Given the description of an element on the screen output the (x, y) to click on. 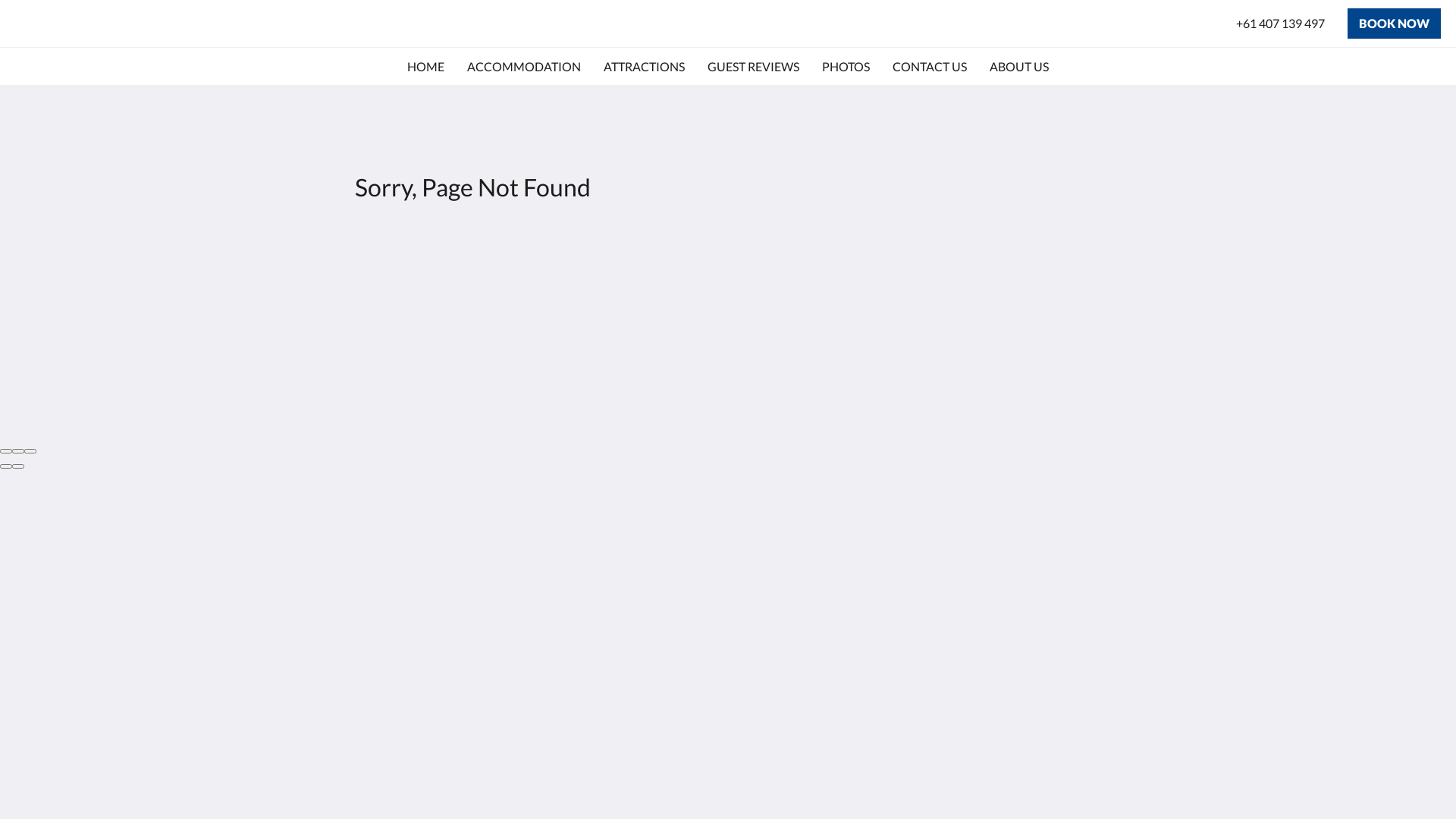
ABOUT US Element type: text (1018, 66)
Close (Esc) Element type: hover (6, 450)
ACCOMMODATION Element type: text (523, 66)
Zoom in/out Element type: hover (30, 450)
BOOK NOW Element type: text (1393, 23)
HOME Element type: text (425, 66)
Next (arrow right) Element type: hover (18, 466)
Previous (arrow left) Element type: hover (6, 466)
ATTRACTIONS Element type: text (643, 66)
Toggle fullscreen Element type: hover (18, 450)
PHOTOS Element type: text (845, 66)
CONTACT US Element type: text (929, 66)
GUEST REVIEWS Element type: text (753, 66)
+61 407 139 497 Element type: text (1280, 23)
